Given the description of an element on the screen output the (x, y) to click on. 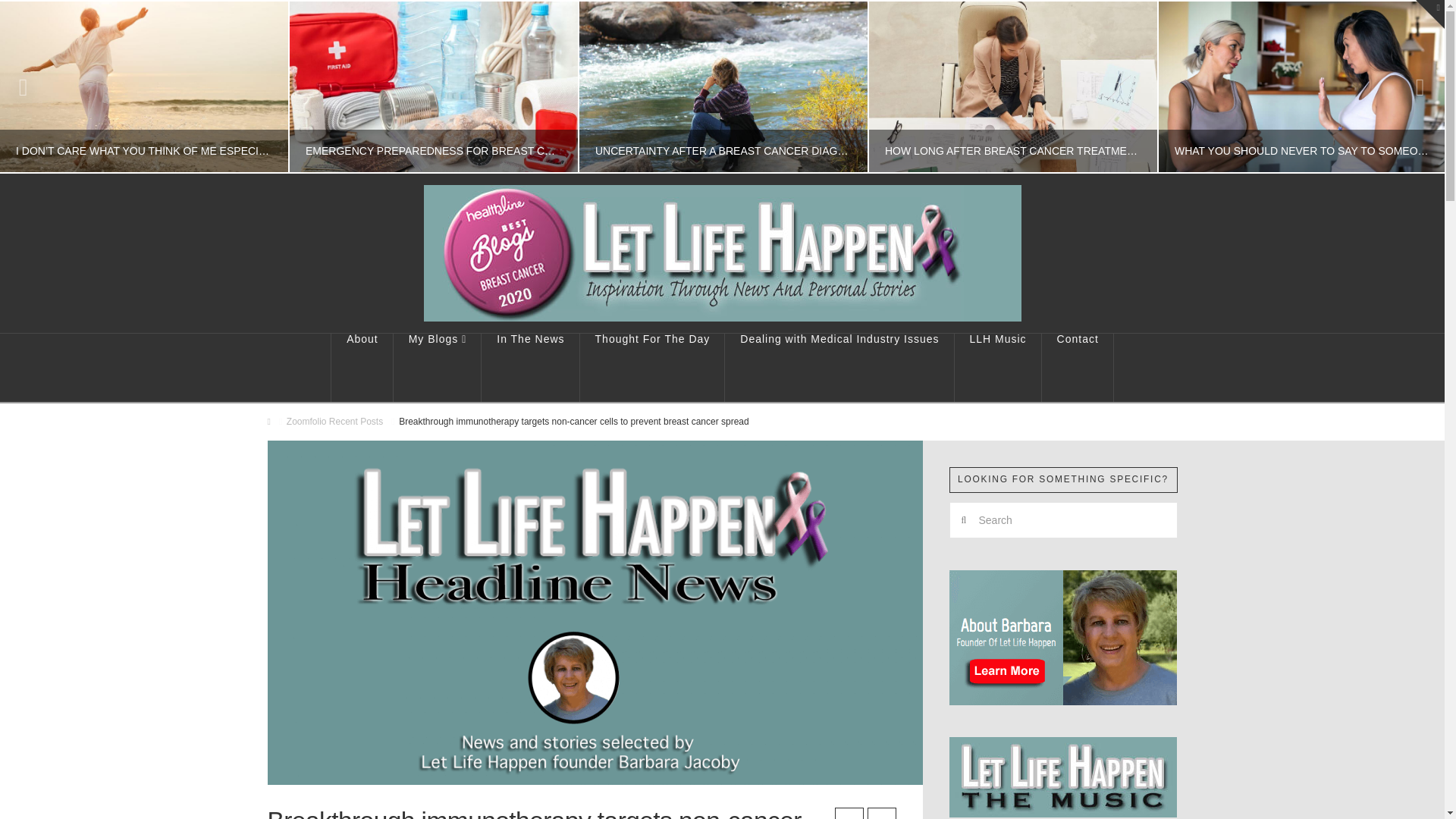
LLH Music (998, 367)
You Are Here (573, 421)
EMERGENCY PREPAREDNESS FOR BREAST CANCER SURVIVORS (433, 86)
About (361, 367)
In The News (530, 367)
Dealing with Medical Industry Issues (839, 367)
My Blogs (437, 367)
Thought For The Day (652, 367)
Contact (1077, 367)
